Given the description of an element on the screen output the (x, y) to click on. 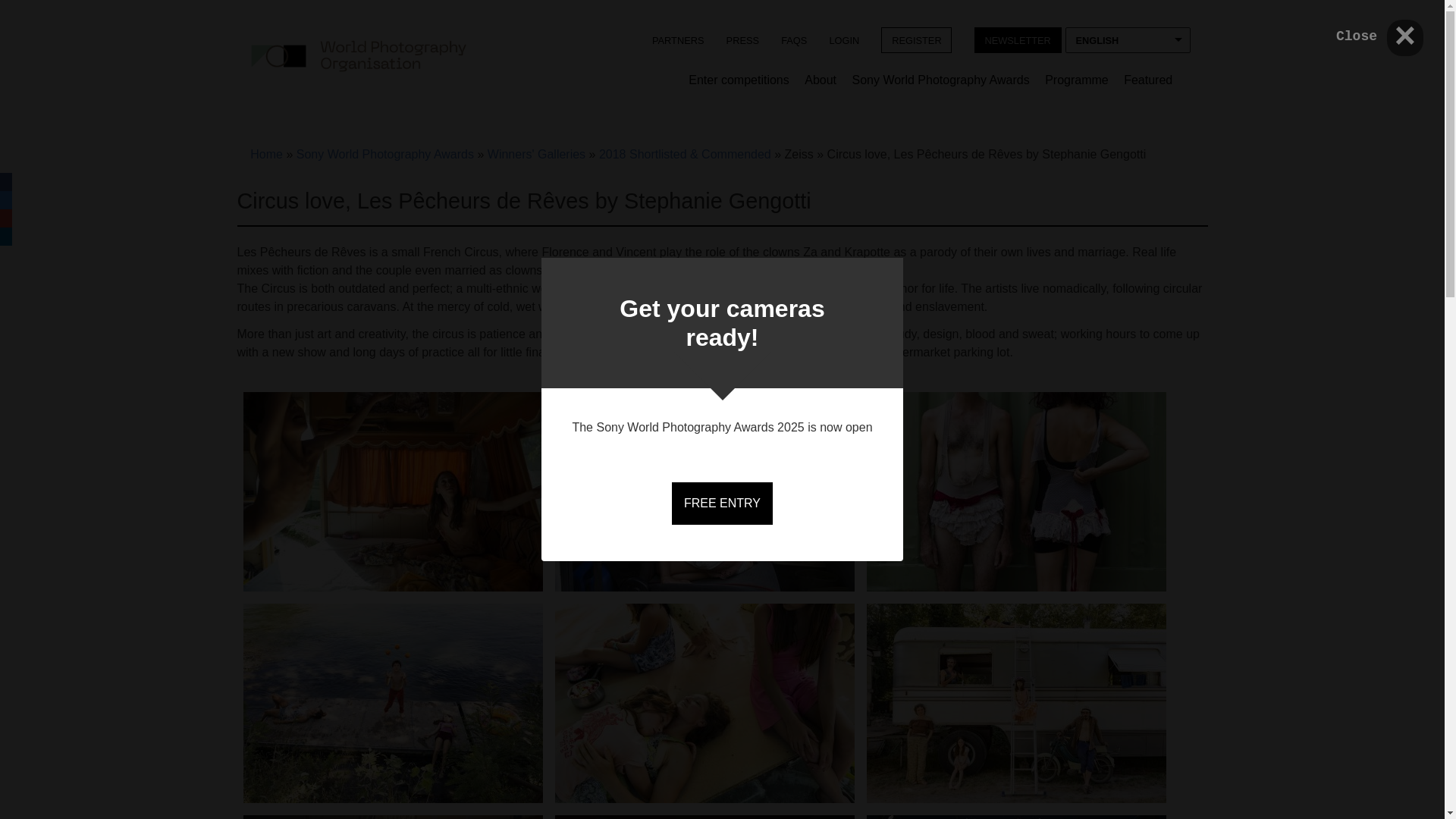
FAQS (793, 39)
LOGIN (844, 39)
Enter competitions (738, 81)
FREE ENTRY (722, 503)
ENGLISH (1127, 39)
PRESS (742, 39)
Get your cameras ready! (722, 322)
PARTNERS (677, 39)
NEWSLETTER (1018, 39)
REGISTER (916, 40)
Home (357, 55)
About (820, 81)
Sony World Photography Awards (940, 81)
